Given the description of an element on the screen output the (x, y) to click on. 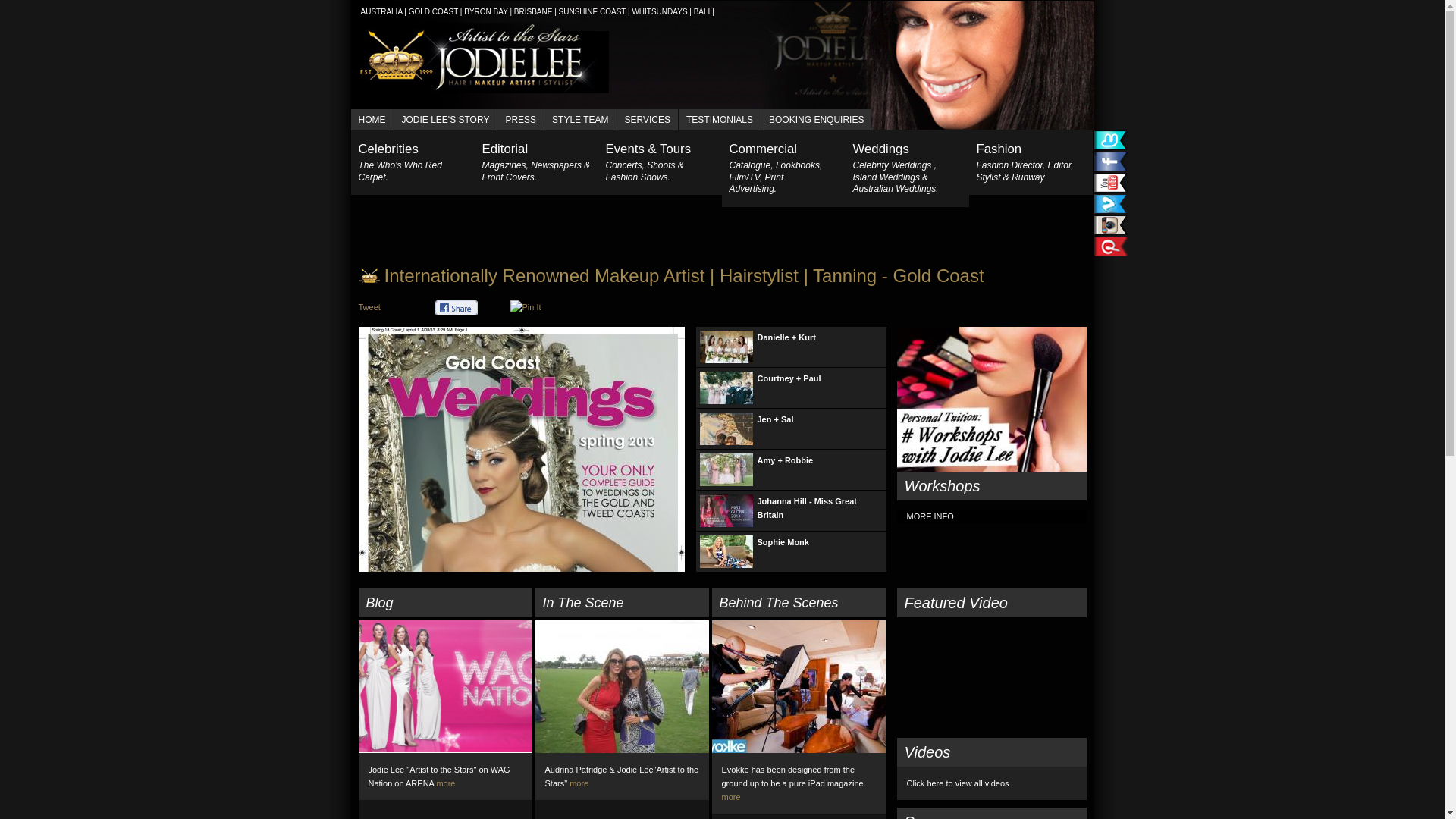
HOME Element type: text (371, 119)
Courtney + Paul Element type: text (791, 387)
JODIE LEE'S STORY Element type: text (445, 119)
Danielle + Kurt Element type: text (791, 346)
more Element type: text (730, 796)
TESTIMONIALS Element type: text (719, 119)
YouTube video player Element type: hover (990, 677)
Blog Element type: text (444, 602)
In The Scene Element type: text (622, 602)
MORE INFO Element type: text (929, 515)
Sophie Monk Element type: text (791, 551)
SERVICES Element type: text (647, 119)
Click here to view all videos Element type: text (957, 782)
more Element type: text (445, 782)
Commercial
Catalogue, Lookbooks, Film/TV, Print Advertising. Element type: text (783, 168)
Fashion
Fashion Director, Editor, Stylist & Runway Element type: text (1030, 162)
Editorial
Magazines, Newspapers & Front Covers. Element type: text (536, 162)
Jen + Sal Element type: text (791, 428)
STYLE TEAM Element type: text (579, 119)
Featured Video Element type: text (990, 602)
Workshops Element type: text (990, 485)
PRESS Element type: text (520, 119)
BOOKING ENQUIRIES Element type: text (816, 119)
Events & Tours
Concerts, Shoots & Fashion Shows. Element type: text (659, 162)
Pin It Element type: hover (524, 306)
Tweet Element type: text (368, 306)
Videos Element type: text (990, 751)
Celebrities
The Who's Who Red Carpet. Element type: text (411, 162)
more Element type: text (578, 782)
Behind The Scenes Element type: text (797, 602)
Amy + Robbie Element type: text (791, 469)
Johanna Hill - Miss Great Britain Element type: text (791, 510)
